Given the description of an element on the screen output the (x, y) to click on. 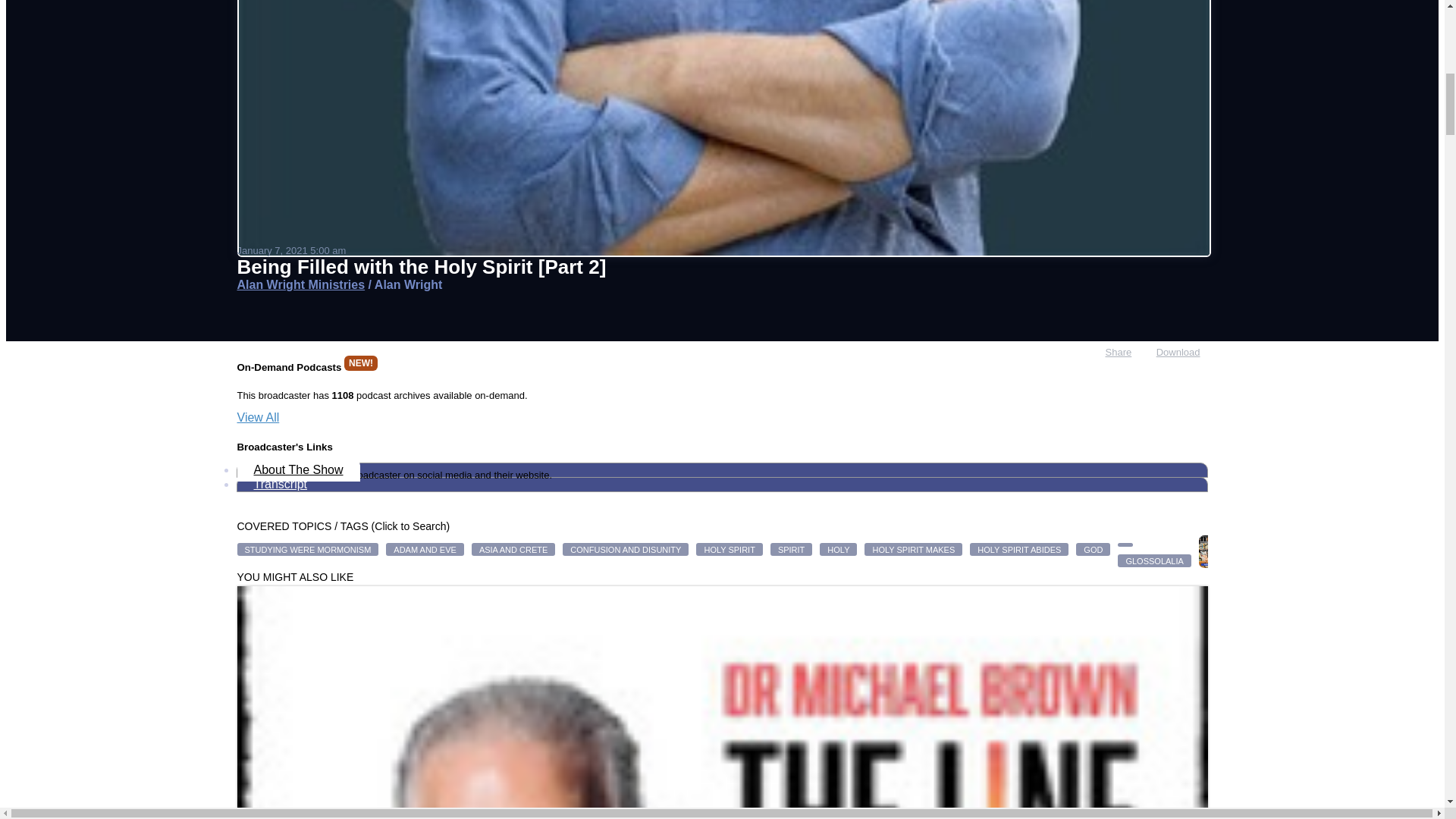
Go to Show Details (300, 284)
